Given the description of an element on the screen output the (x, y) to click on. 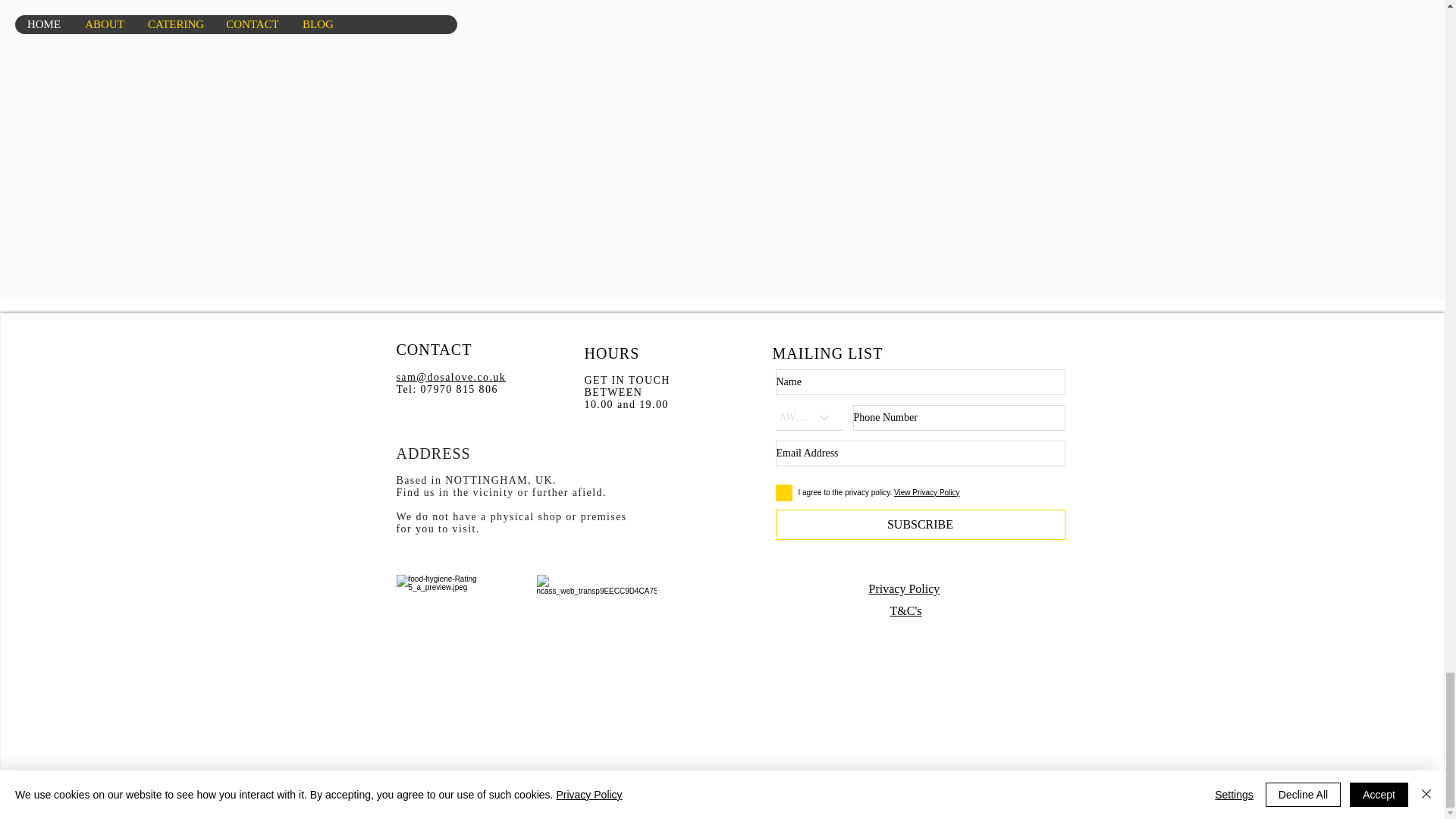
Privacy Policy (904, 588)
07970 815 806 (458, 389)
SUBSCRIBE (919, 524)
View Privacy Policy (926, 492)
